Given the description of an element on the screen output the (x, y) to click on. 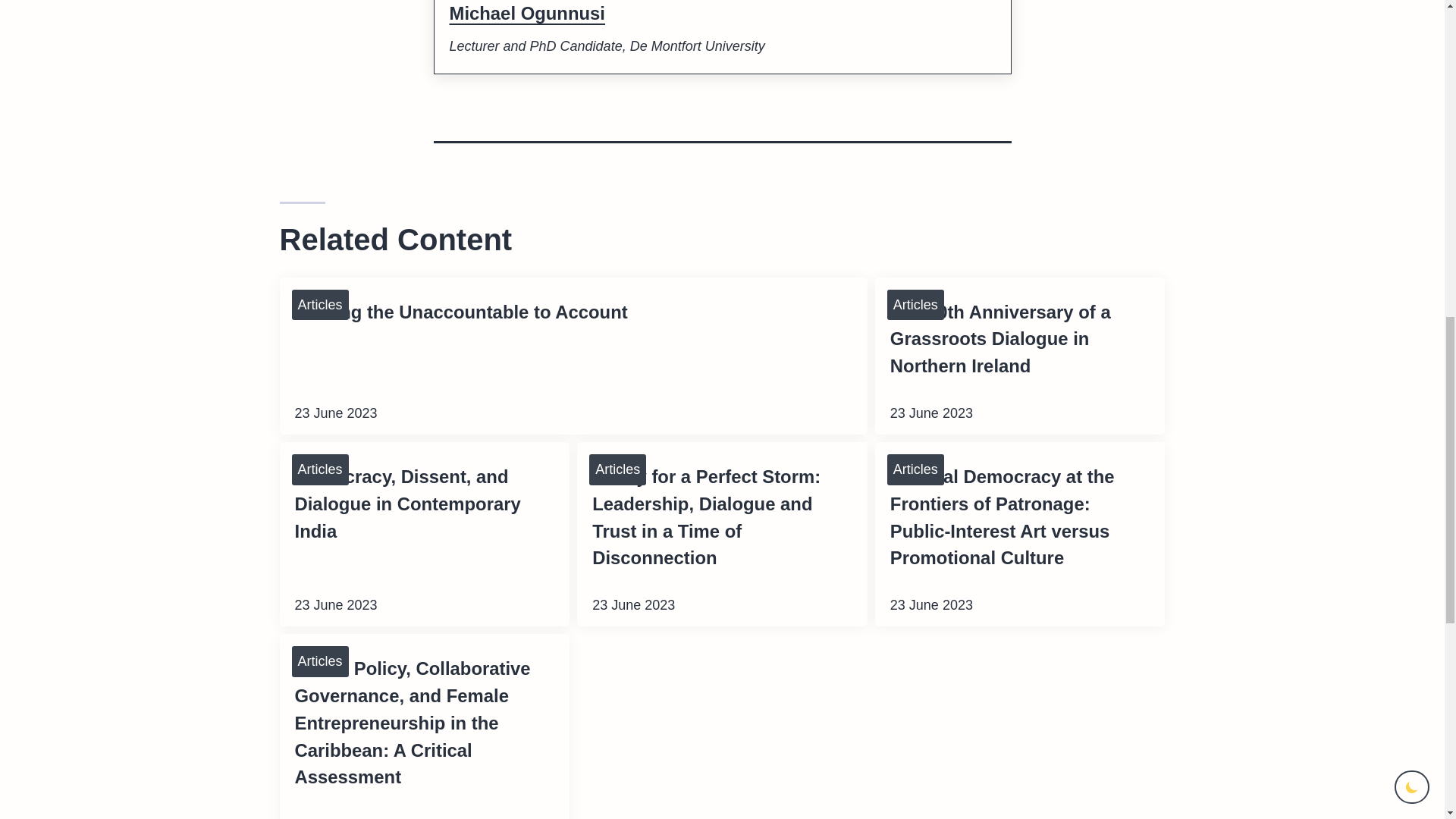
View Articles Archive (319, 469)
Michael Ogunnusi (526, 13)
Articles (617, 469)
View Articles Archive (914, 469)
View Articles Archive (319, 305)
View Articles Archive (914, 305)
Articles (319, 661)
Michael Ogunnusi (526, 13)
Articles (319, 469)
Articles (914, 469)
